Given the description of an element on the screen output the (x, y) to click on. 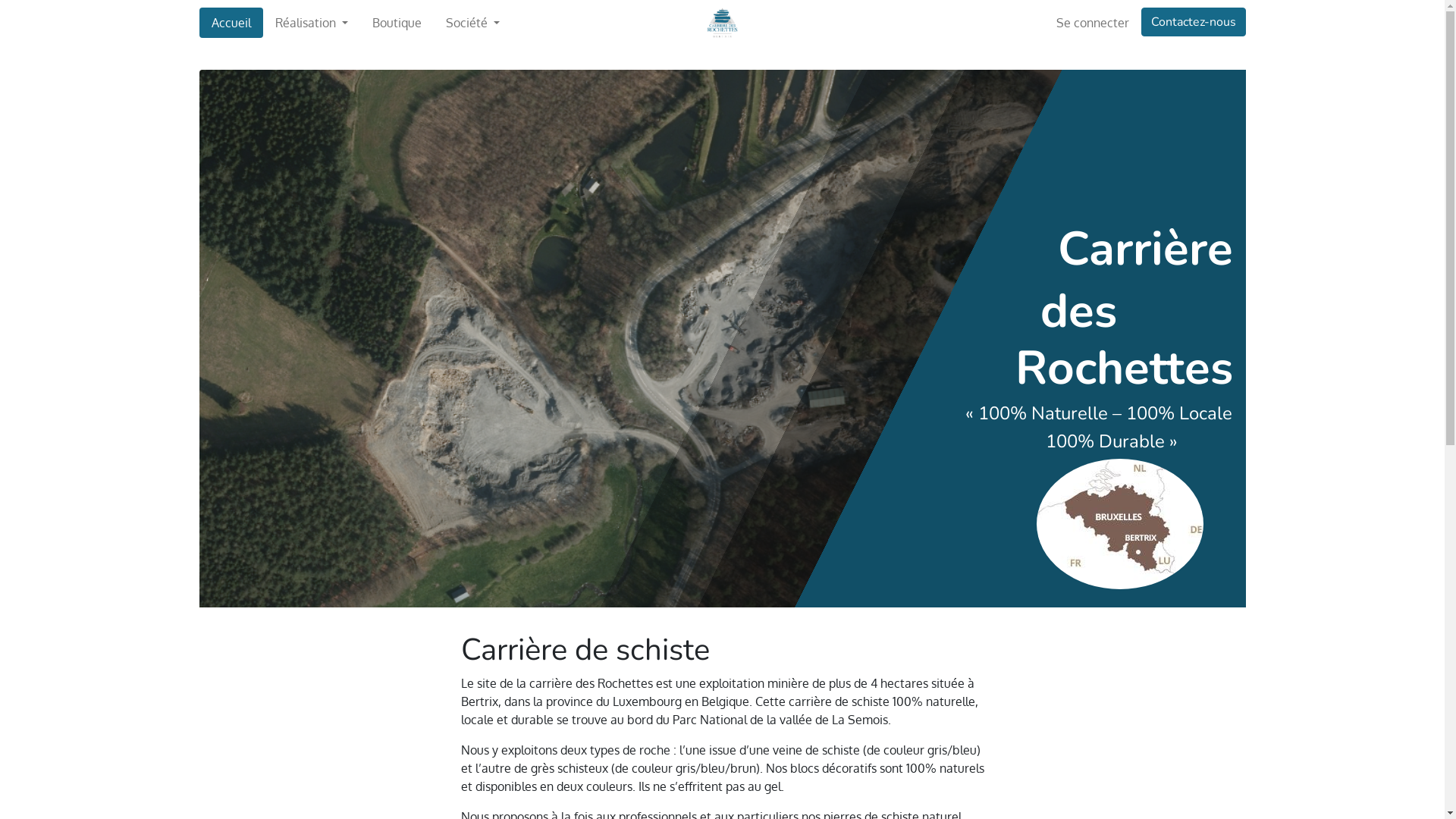
Se connecter Element type: text (1091, 22)
Contactez-nous Element type: text (1192, 21)
Boutique Element type: text (396, 22)
Accueil Element type: text (230, 22)
